Given the description of an element on the screen output the (x, y) to click on. 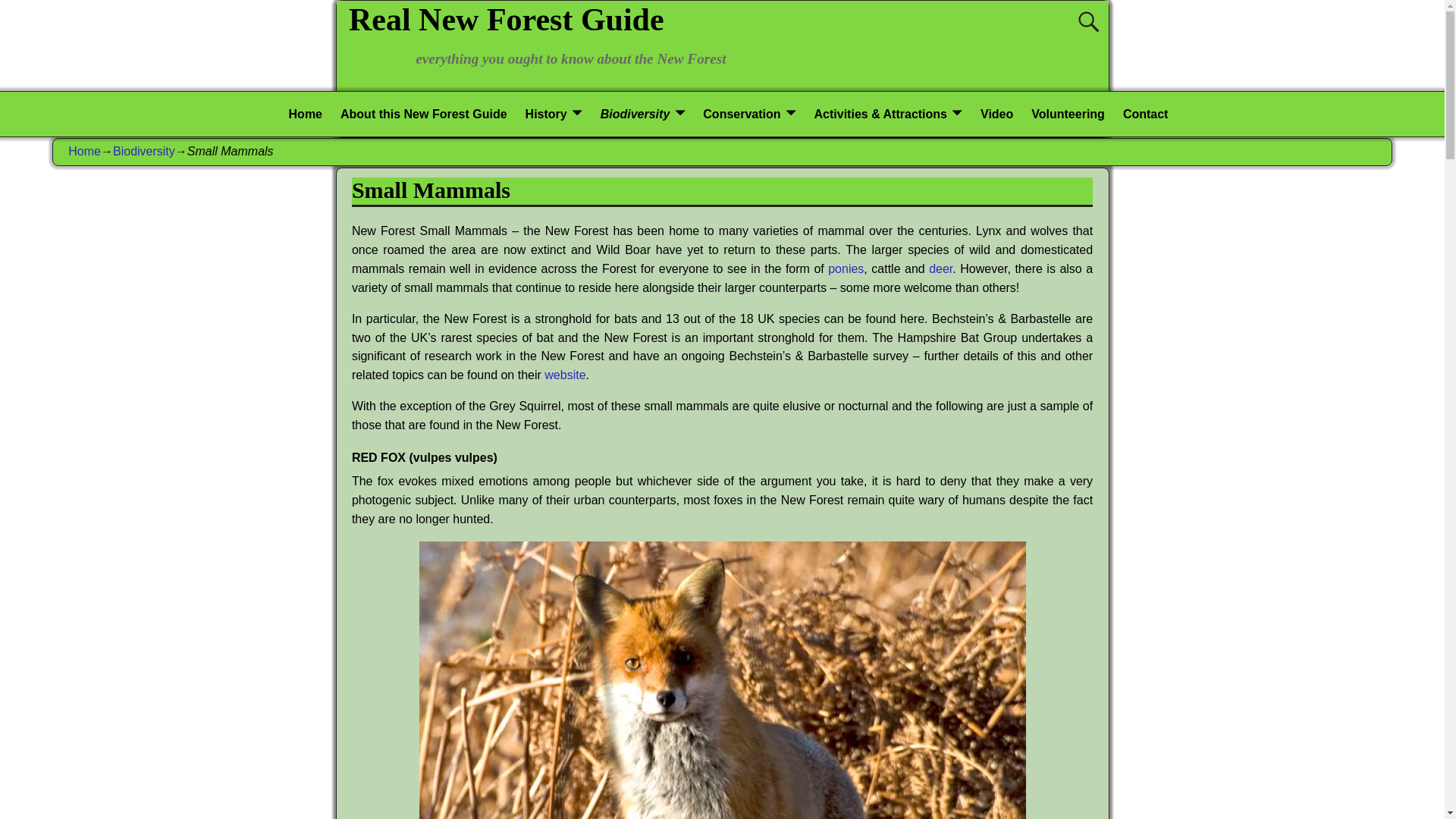
Real New Forest Guide (505, 19)
Home (305, 113)
Biodiversity (642, 113)
Home (305, 113)
History (553, 113)
About this New Forest Guide (423, 113)
Real New Forest Guide (505, 19)
